Given the description of an element on the screen output the (x, y) to click on. 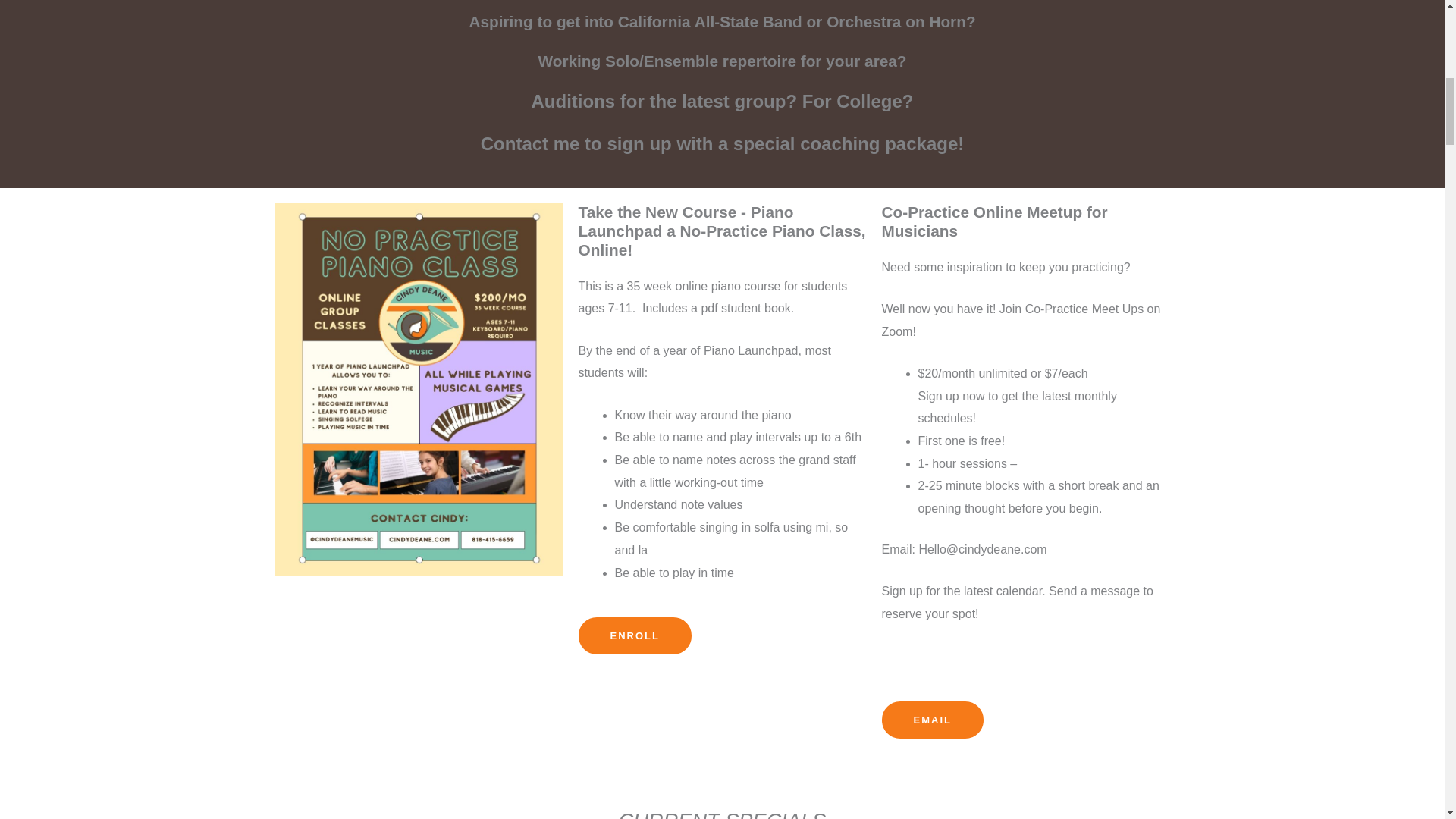
ENROLL (634, 635)
EMAIL (931, 719)
